Given the description of an element on the screen output the (x, y) to click on. 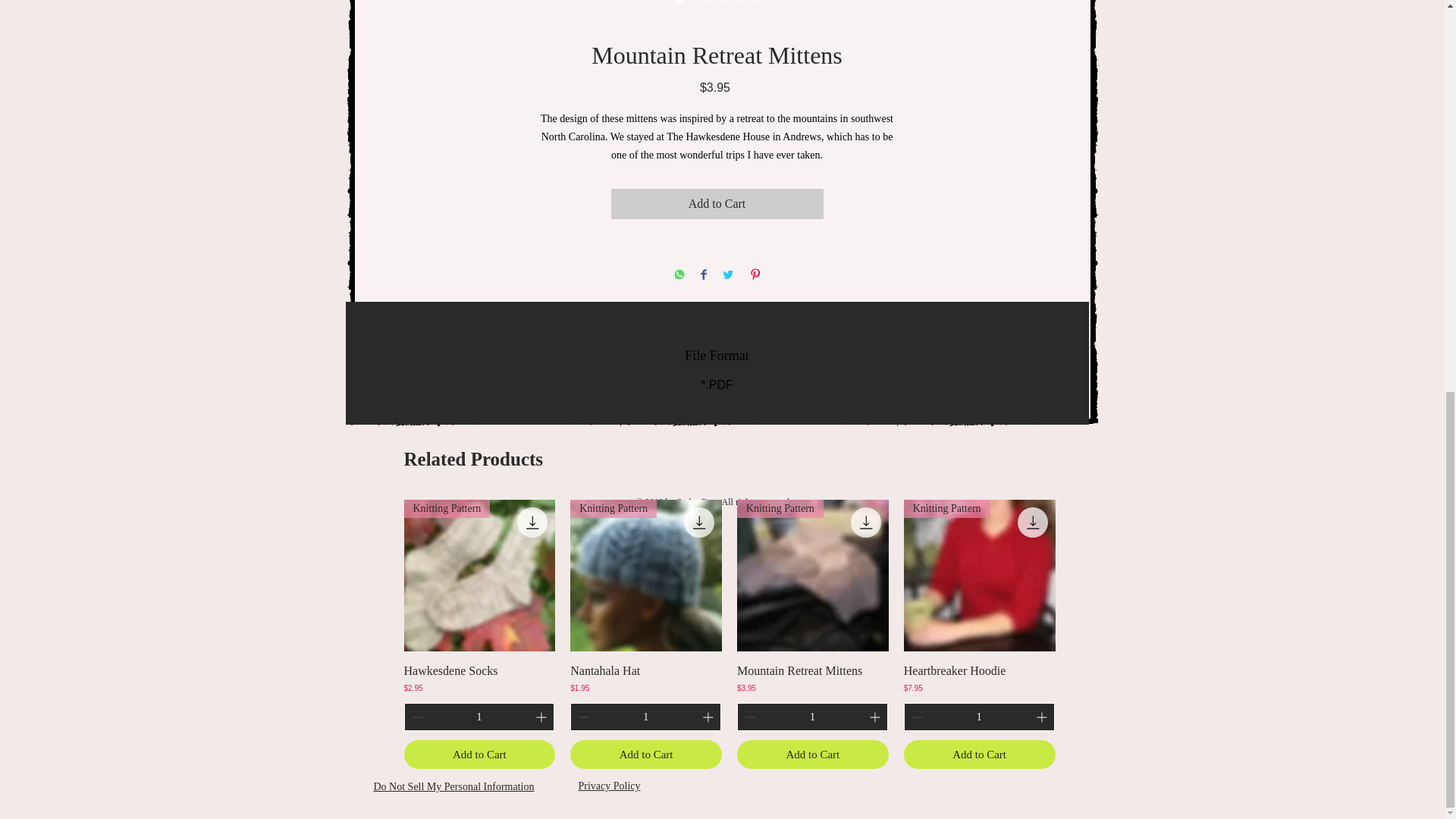
Knitting Pattern (812, 575)
Knitting Pattern (646, 575)
Add to Cart (478, 754)
Knitting Pattern (478, 575)
Add to Cart (717, 204)
1 (645, 717)
1 (478, 717)
1 (812, 717)
Add to Cart (646, 754)
1 (978, 717)
